Given the description of an element on the screen output the (x, y) to click on. 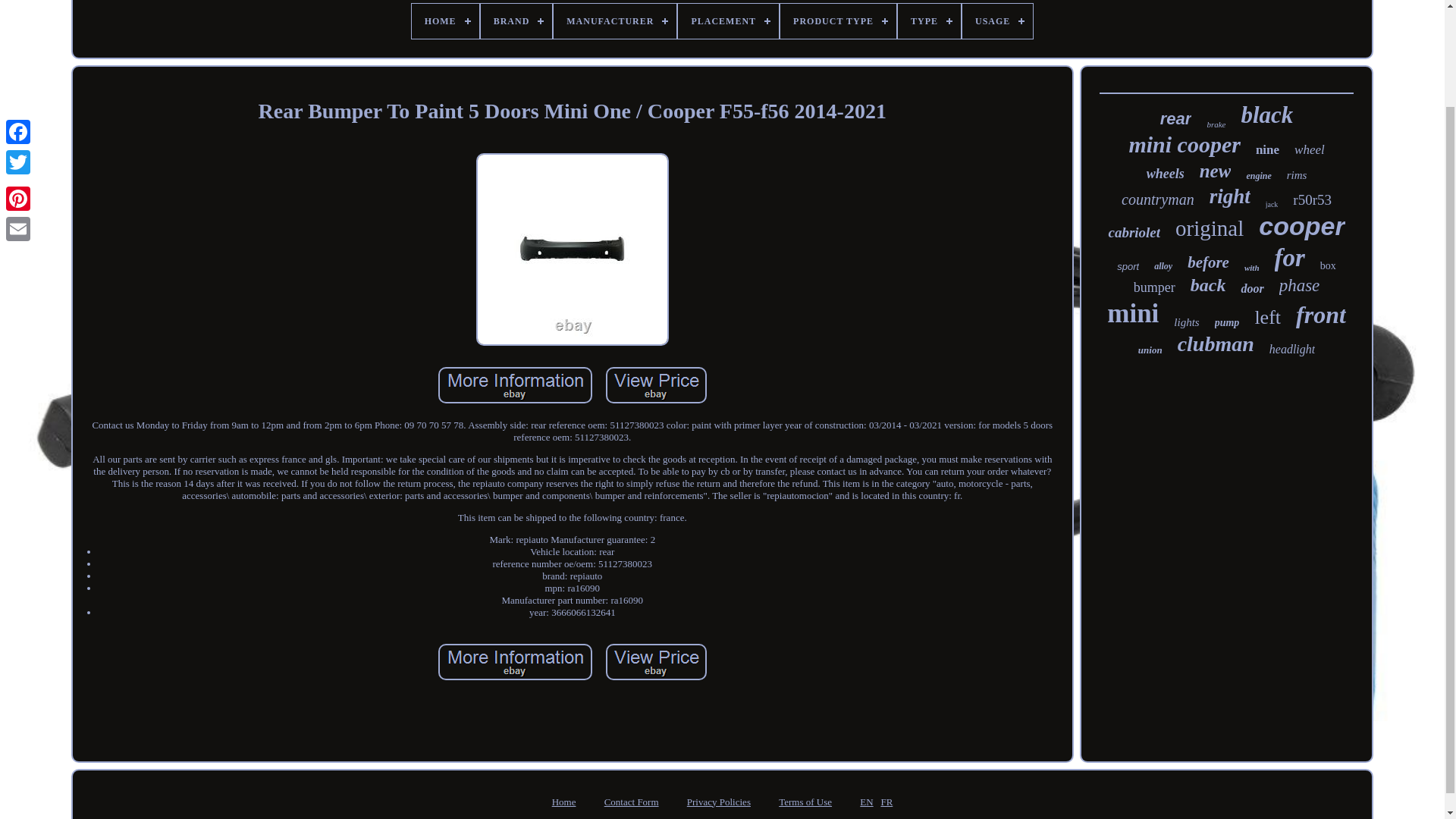
HOME (445, 21)
MANUFACTURER (615, 21)
BRAND (516, 21)
